Given the description of an element on the screen output the (x, y) to click on. 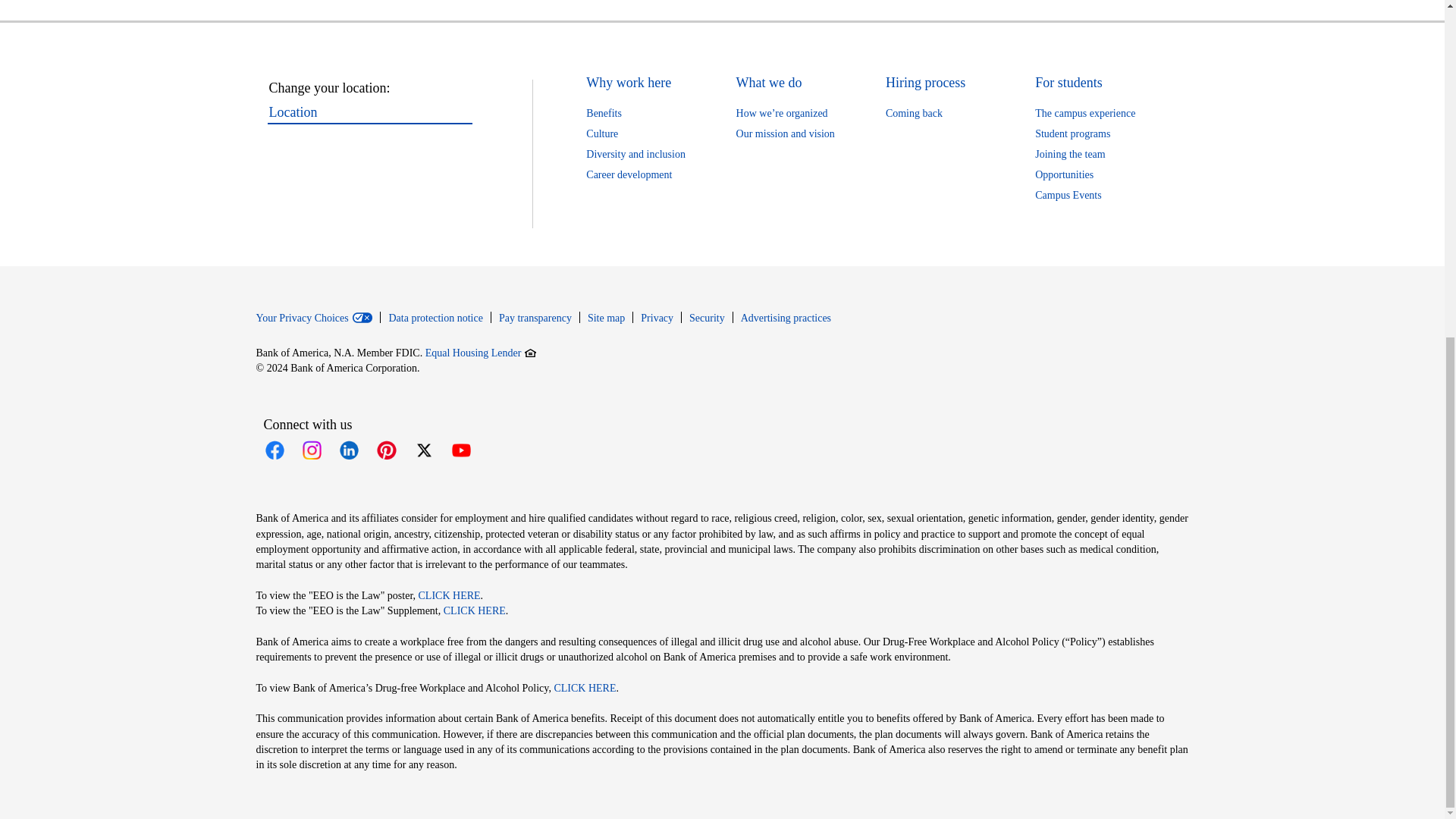
Benefits (603, 113)
Culture (601, 133)
Why work here (628, 82)
